Given the description of an element on the screen output the (x, y) to click on. 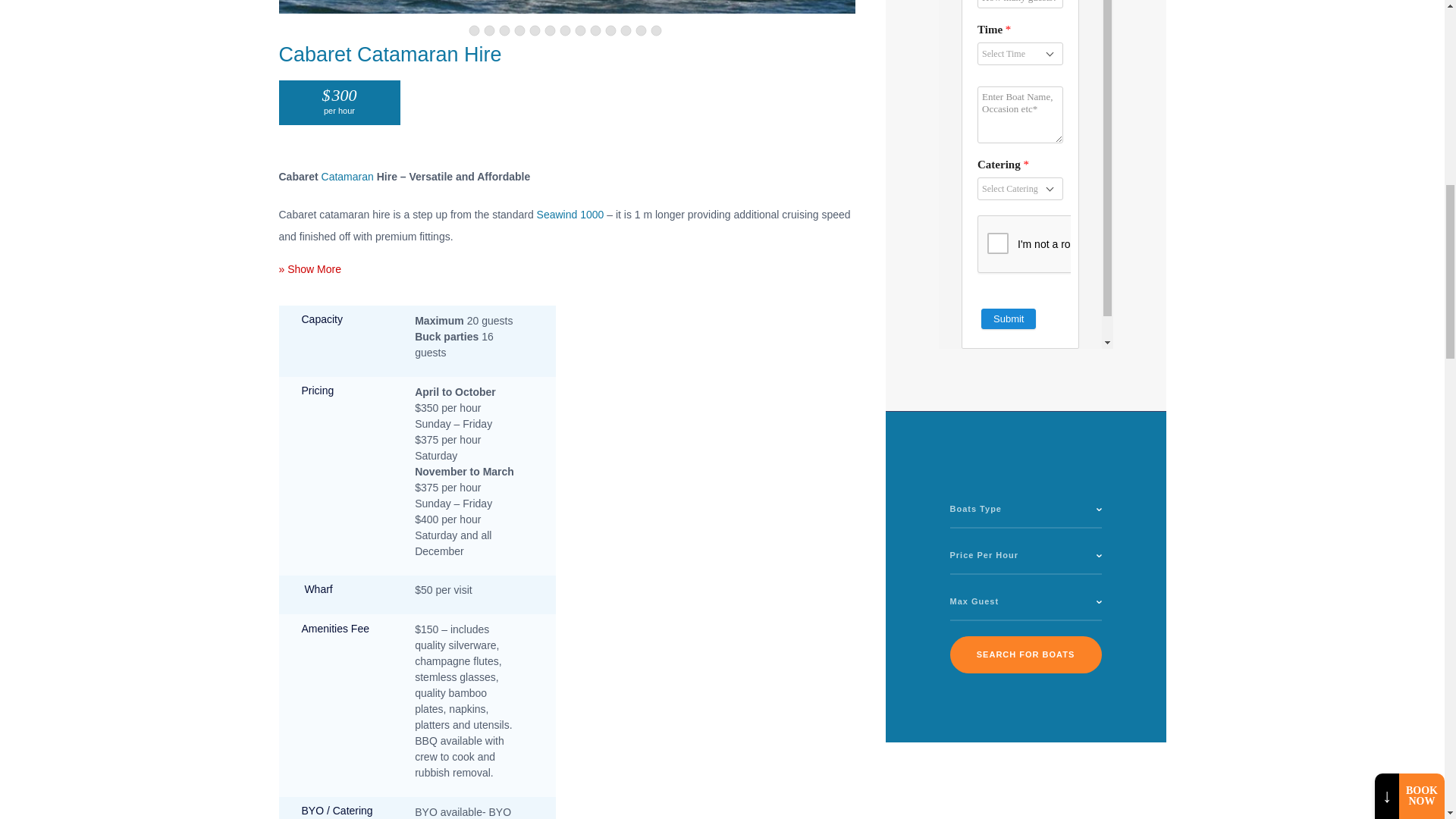
search for boats (1024, 654)
